Given the description of an element on the screen output the (x, y) to click on. 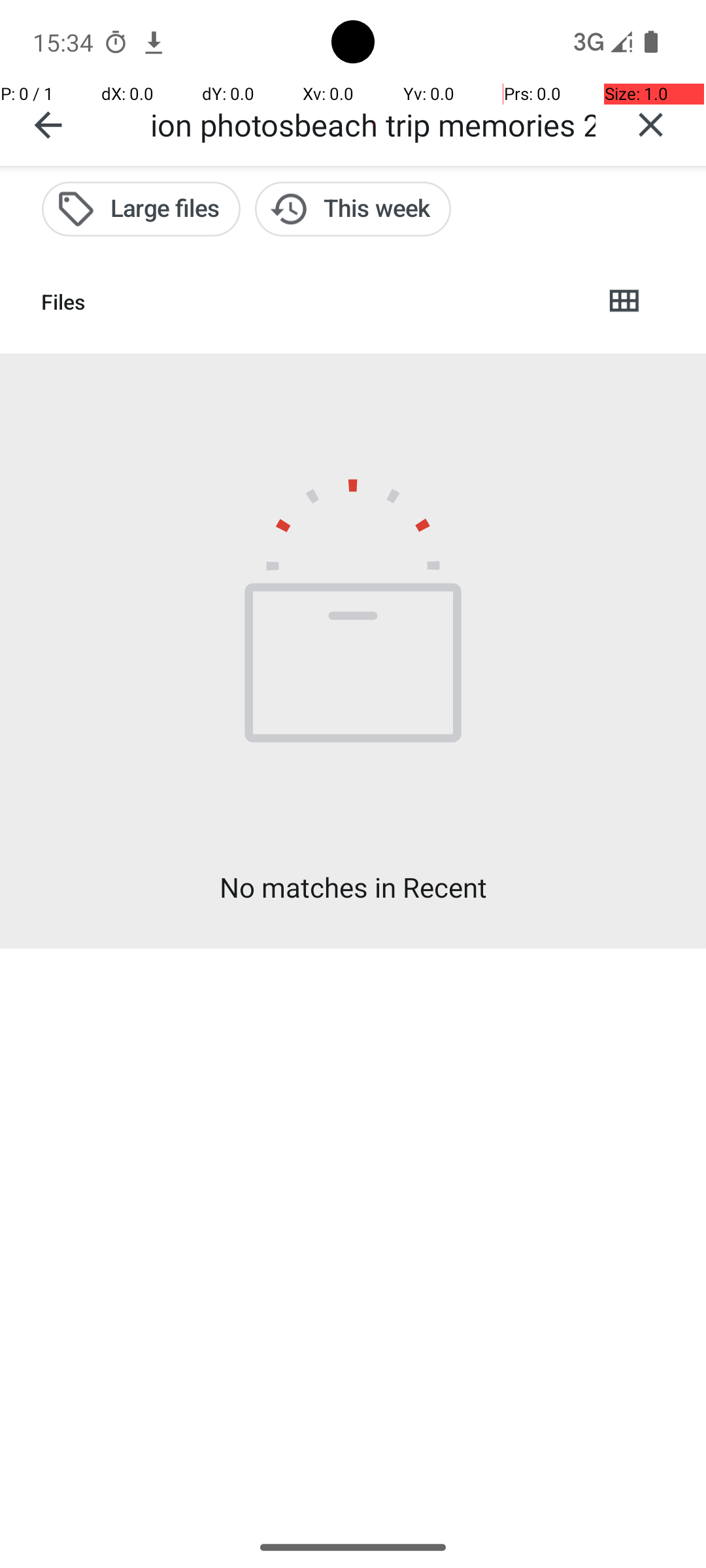
vacation photosbeach trip memories 2023 Element type: android.widget.AutoCompleteTextView (373, 124)
Chrome notification: www.espn.com Element type: android.widget.ImageView (153, 41)
